Given the description of an element on the screen output the (x, y) to click on. 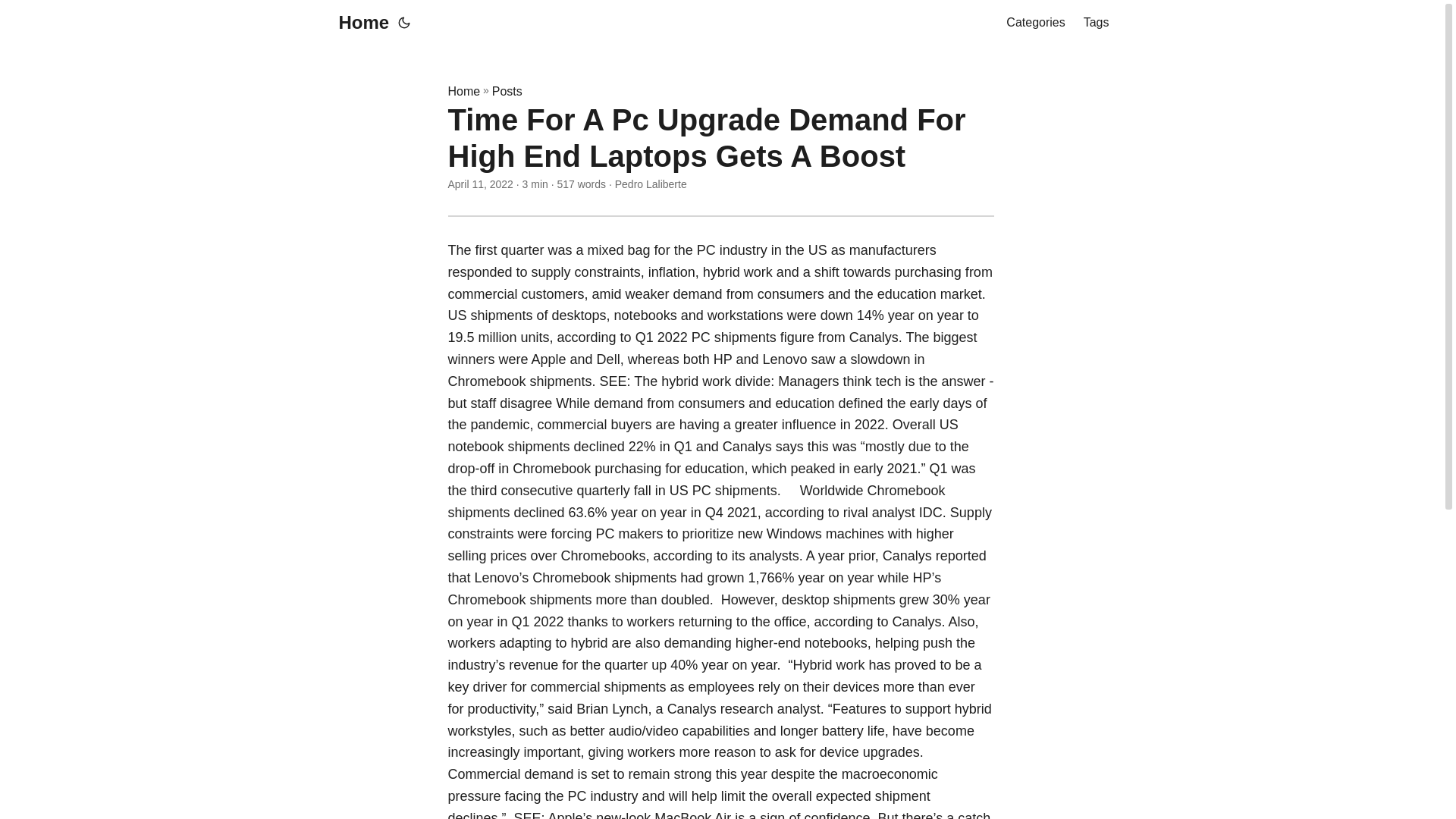
Home (463, 91)
Home (359, 22)
Categories (1035, 22)
Categories (1035, 22)
Posts (507, 91)
